Given the description of an element on the screen output the (x, y) to click on. 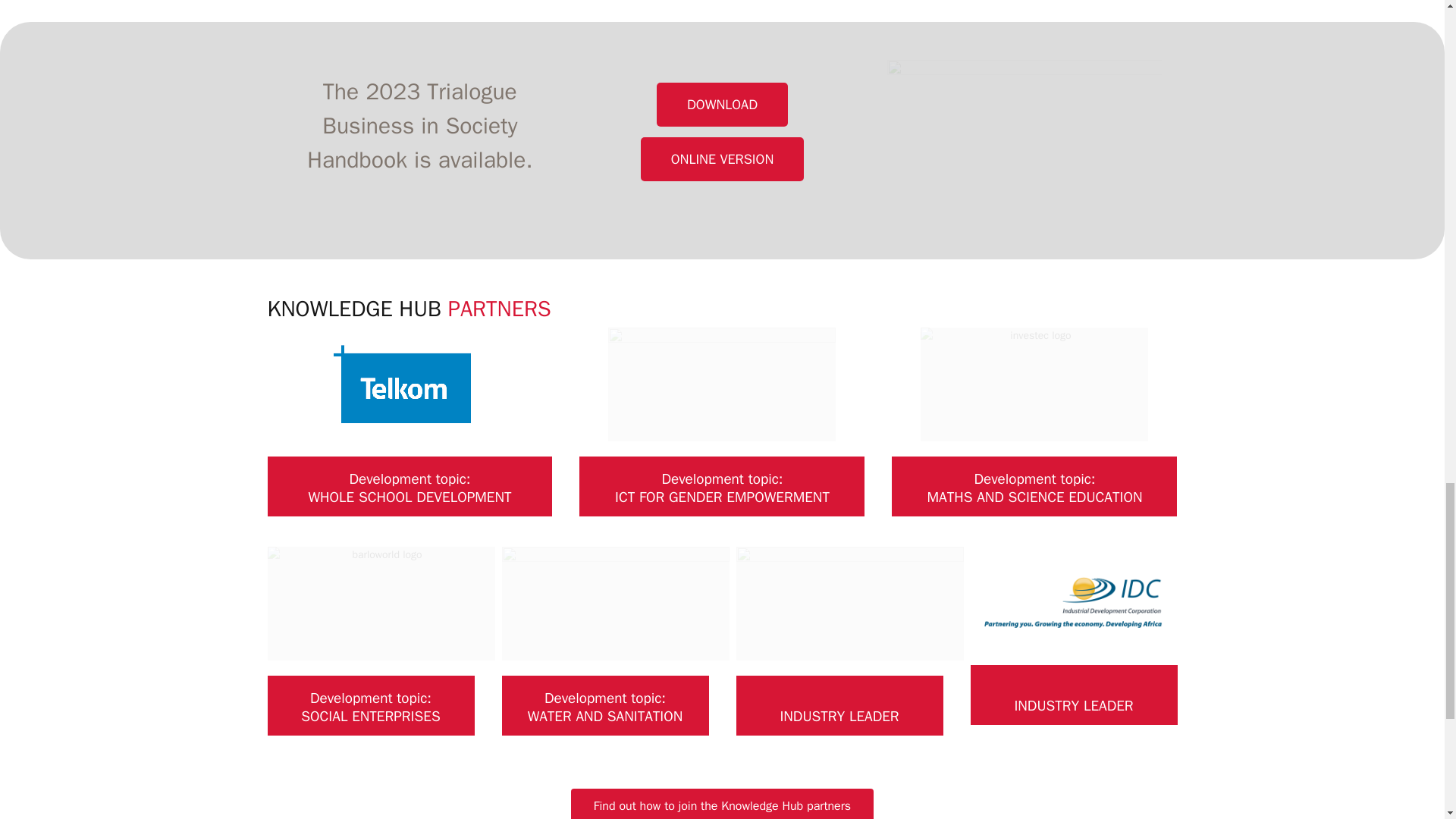
telkom 300 x 150 (408, 384)
